Given the description of an element on the screen output the (x, y) to click on. 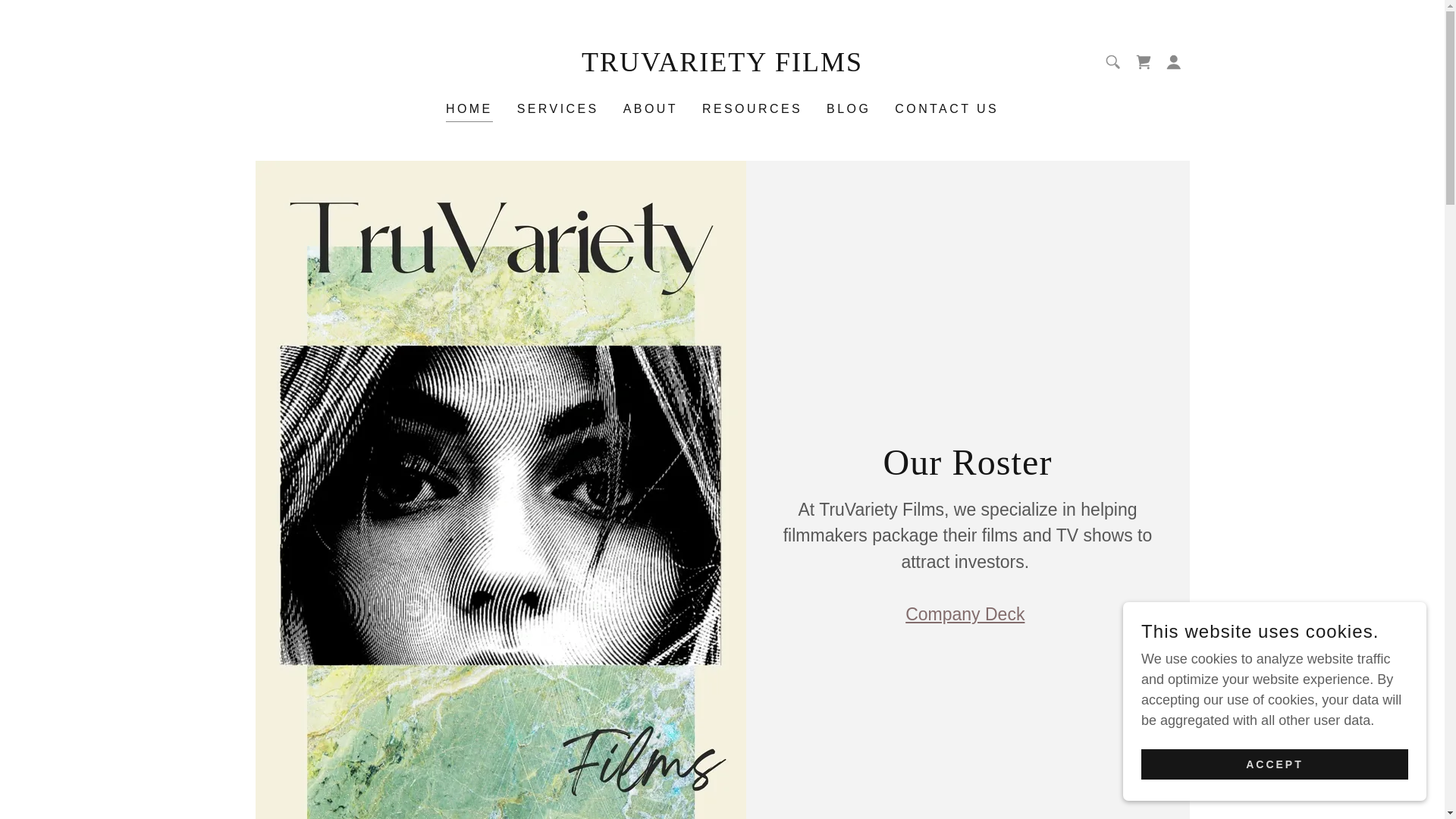
ABOUT (650, 108)
Company Deck (965, 614)
SERVICES (558, 108)
BLOG (848, 108)
RESOURCES (751, 108)
HOME (469, 110)
TRUVARIETY FILMS (721, 66)
TruVariety Films (721, 66)
CONTACT US (946, 108)
